Given the description of an element on the screen output the (x, y) to click on. 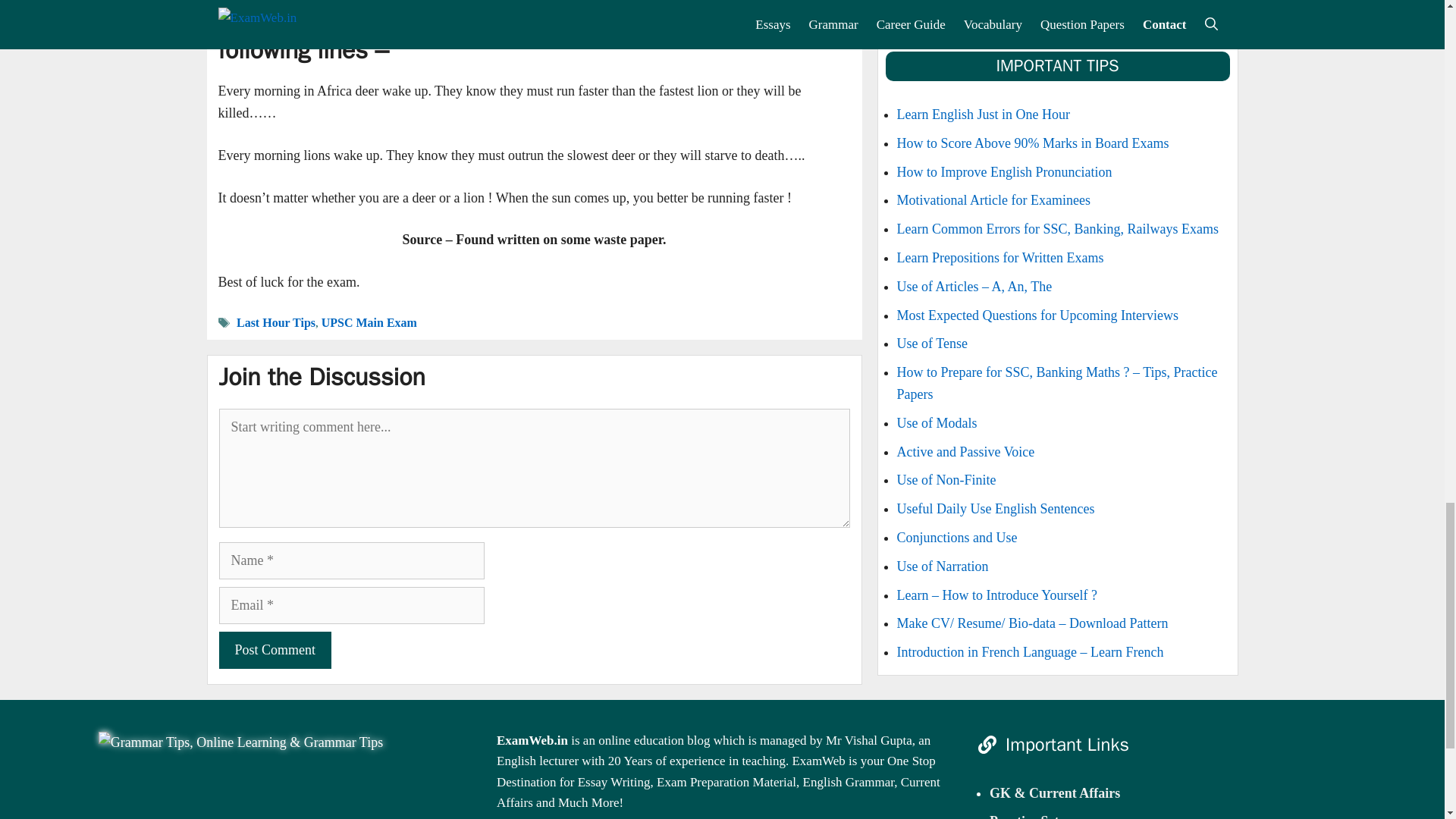
examweb.in (240, 742)
UPSC Main Exam (368, 322)
Last Hour Tips (275, 322)
Post Comment (274, 650)
Post Comment (274, 650)
